Given the description of an element on the screen output the (x, y) to click on. 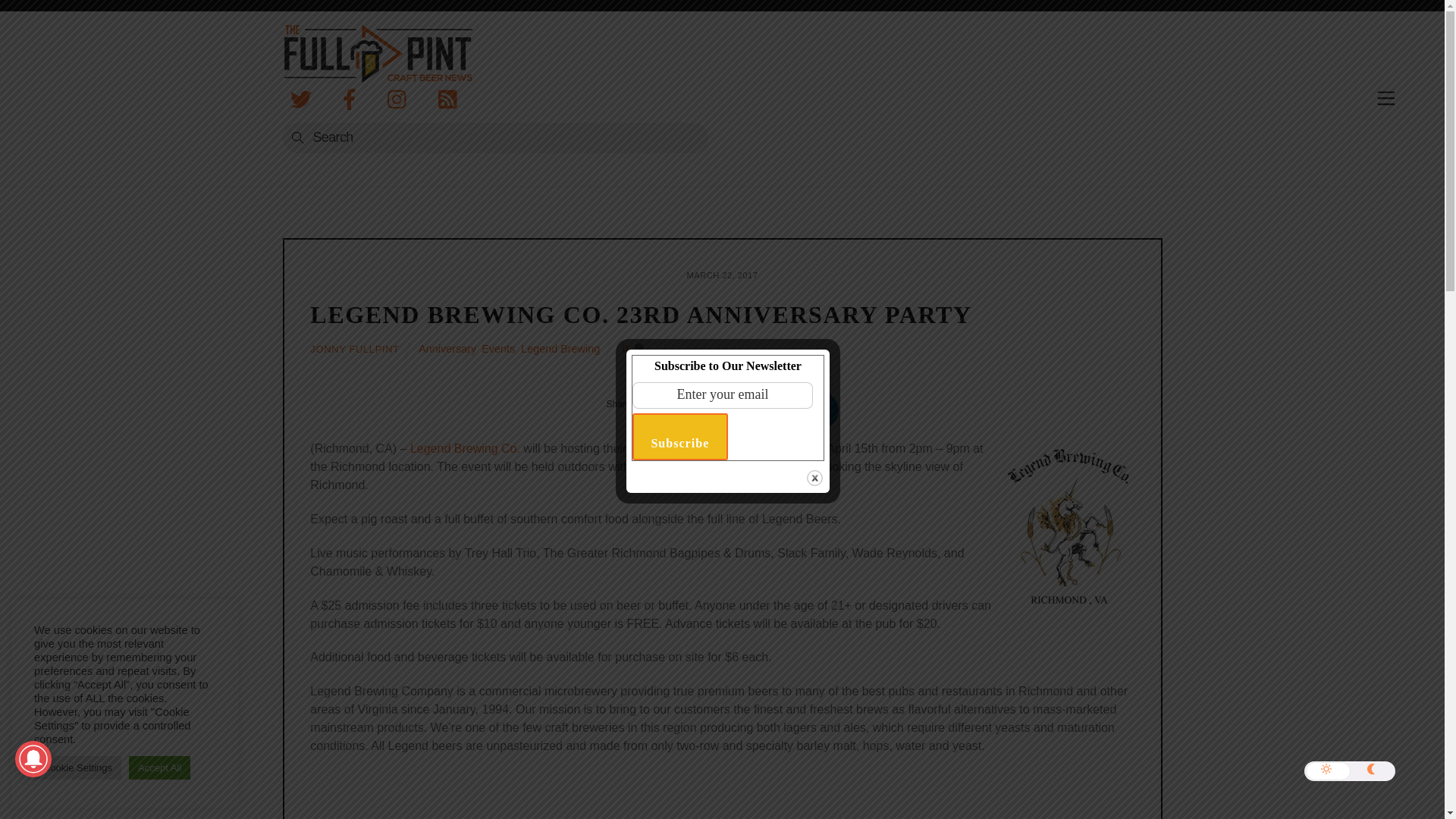
Advertisement (722, 795)
The Full Pint - Craft Beer News (376, 53)
The Full Pint - Craft Beer News (376, 71)
Events (498, 348)
Anniversary (447, 348)
JONNY FULLPINT (354, 348)
Menu (1385, 98)
Legend Brewing (560, 348)
Search (494, 137)
